Given the description of an element on the screen output the (x, y) to click on. 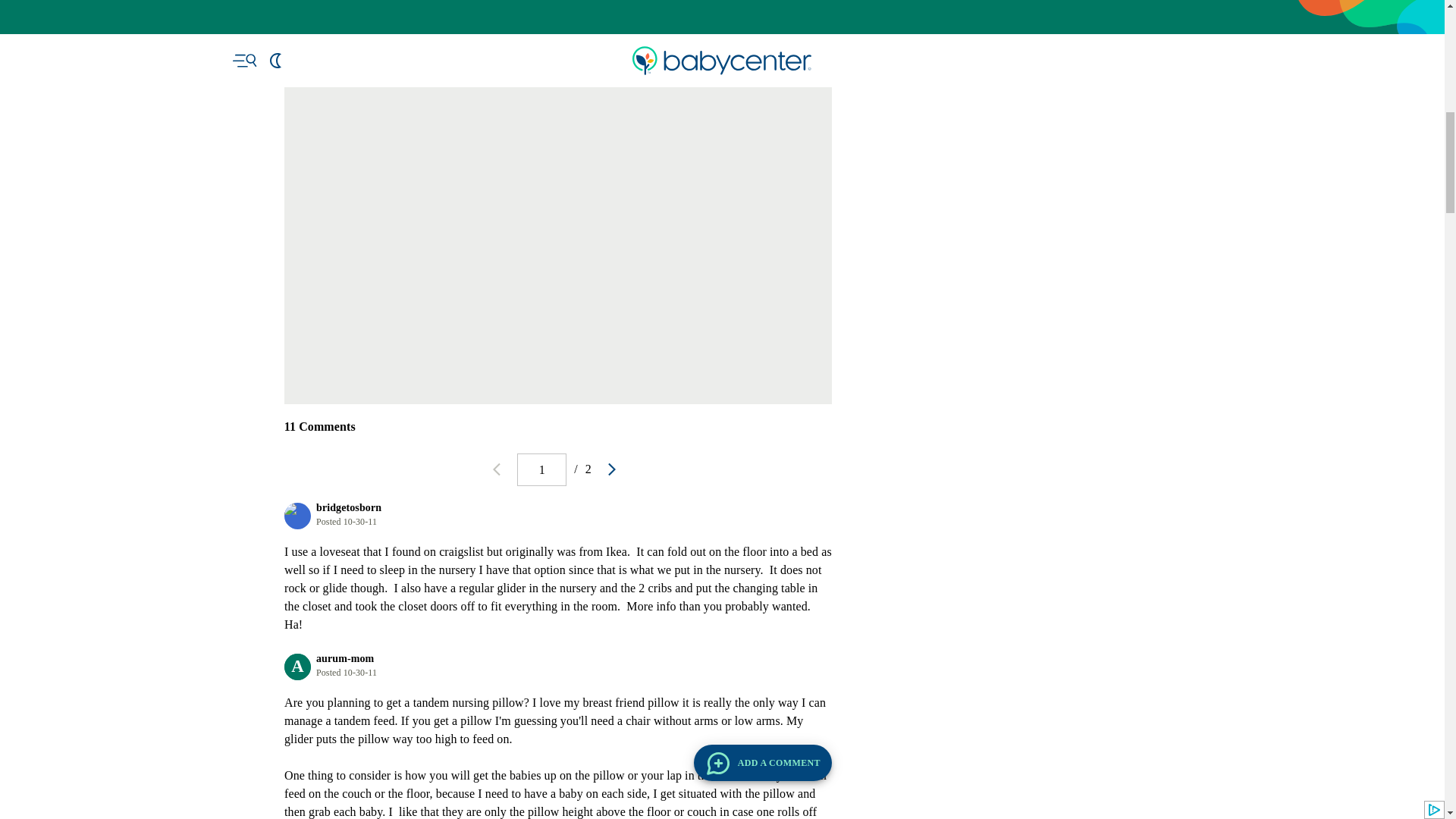
Go to page number (541, 469)
1 (541, 469)
